Given the description of an element on the screen output the (x, y) to click on. 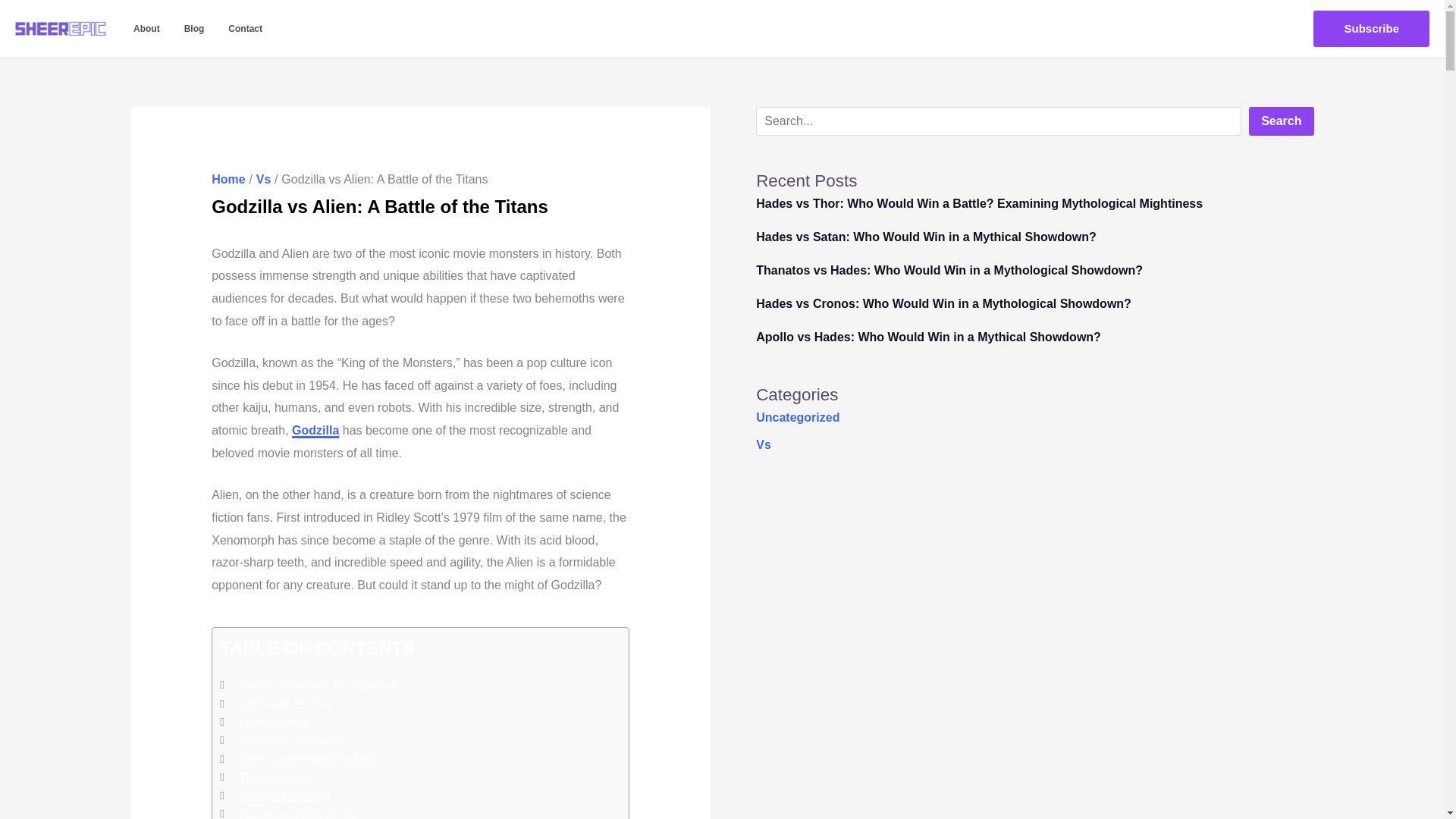
Godzilla (315, 430)
The Battle Scenario (290, 740)
Subscribe (1371, 28)
The X-Factors (276, 777)
Research and Analysis (298, 811)
Character Profiles (285, 703)
Other Characters Influence (308, 758)
The X-Factors (276, 777)
About (145, 28)
Power Levels (274, 721)
Character Profiles (285, 703)
Godzilla Vs Alien: The Concept (318, 684)
Audience Opinion (285, 795)
Godzilla Vs Alien: The Concept (318, 684)
Audience Opinion (285, 795)
